Given the description of an element on the screen output the (x, y) to click on. 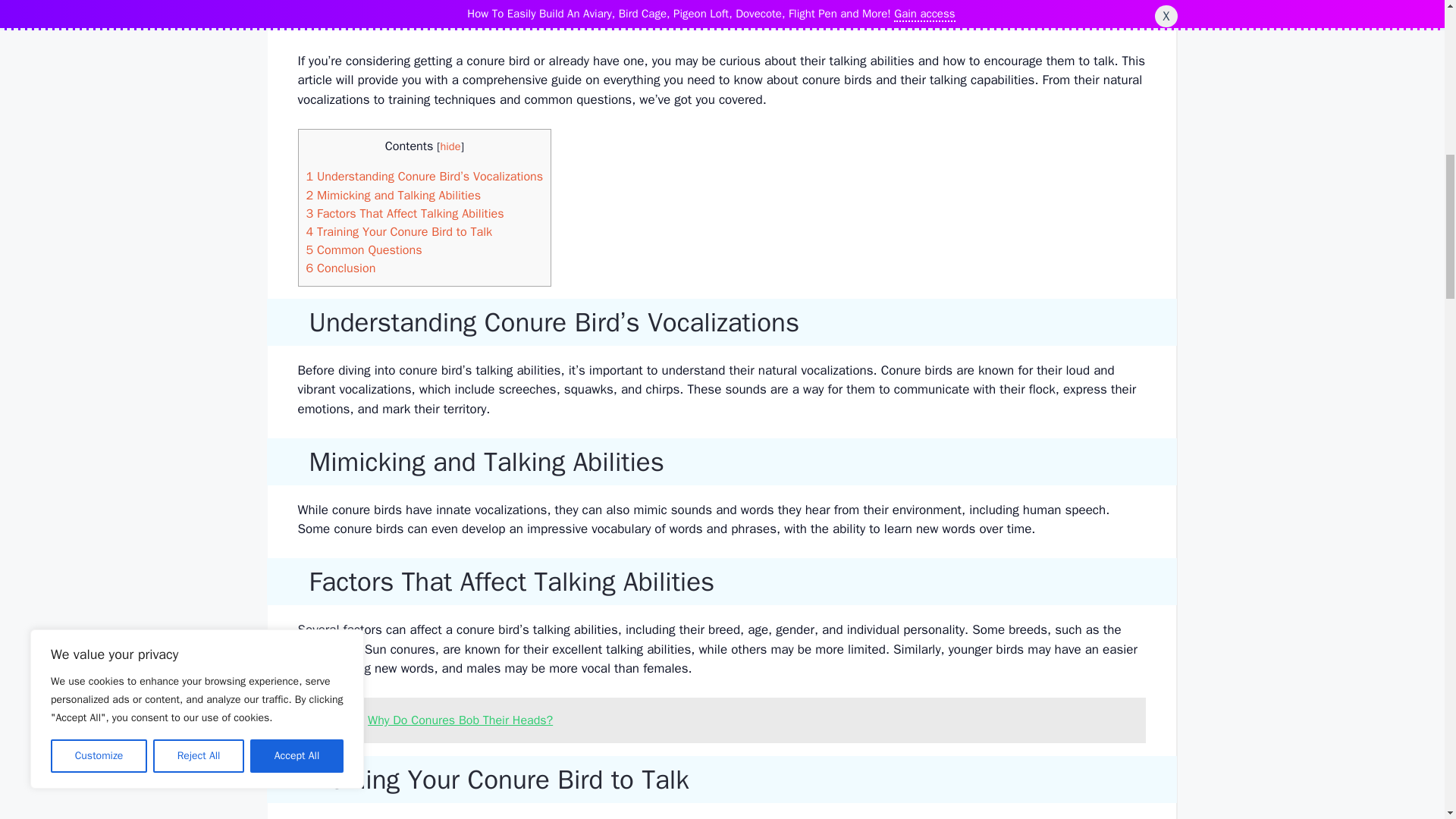
4 Training Your Conure Bird to Talk (399, 231)
hide (451, 146)
3 Factors That Affect Talking Abilities (404, 213)
Scroll back to top (1406, 720)
2 Mimicking and Talking Abilities (393, 194)
